Given the description of an element on the screen output the (x, y) to click on. 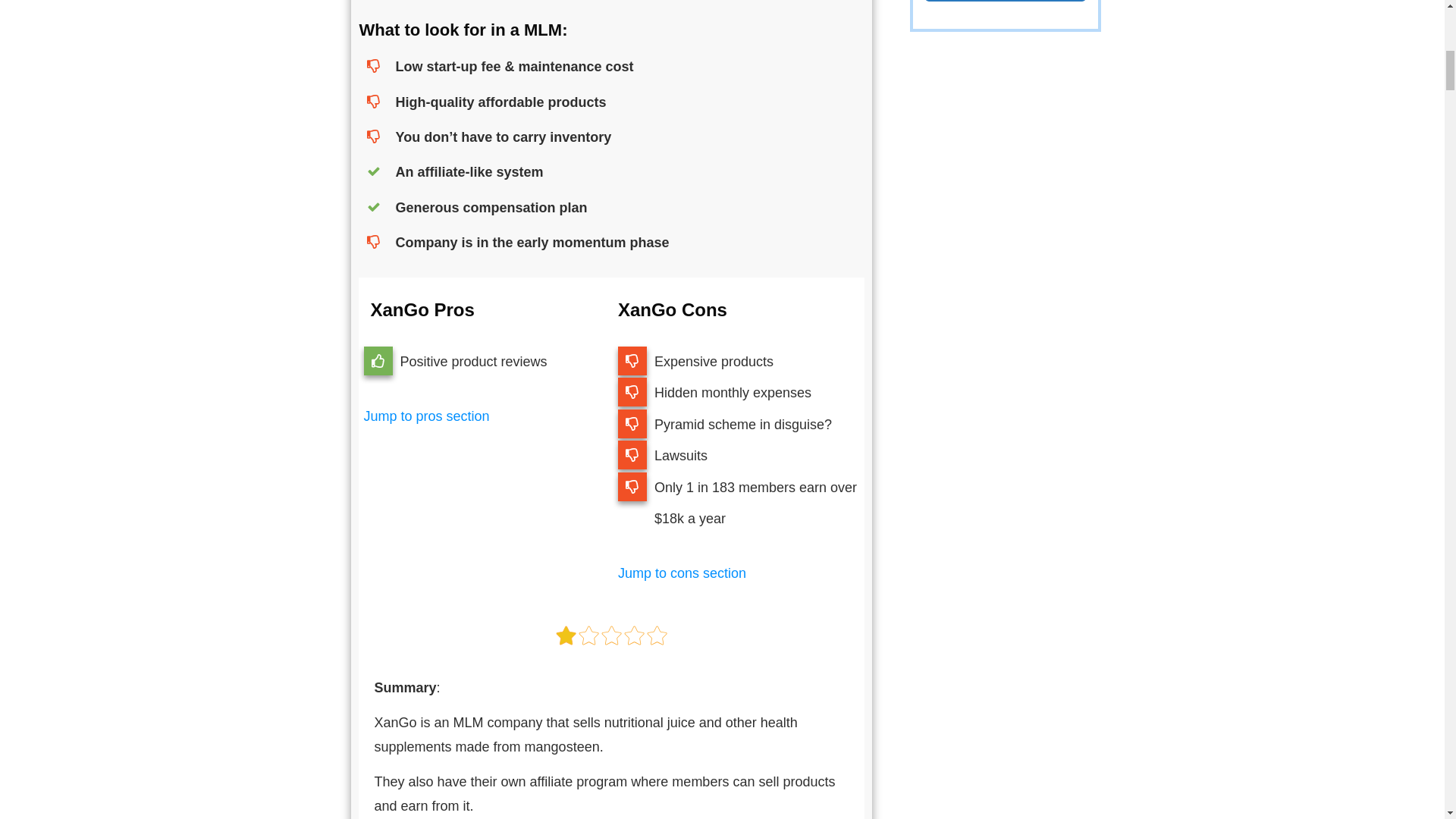
Jump to pros section (426, 416)
Jump to cons section (681, 572)
Jump to pros section (426, 416)
